Given the description of an element on the screen output the (x, y) to click on. 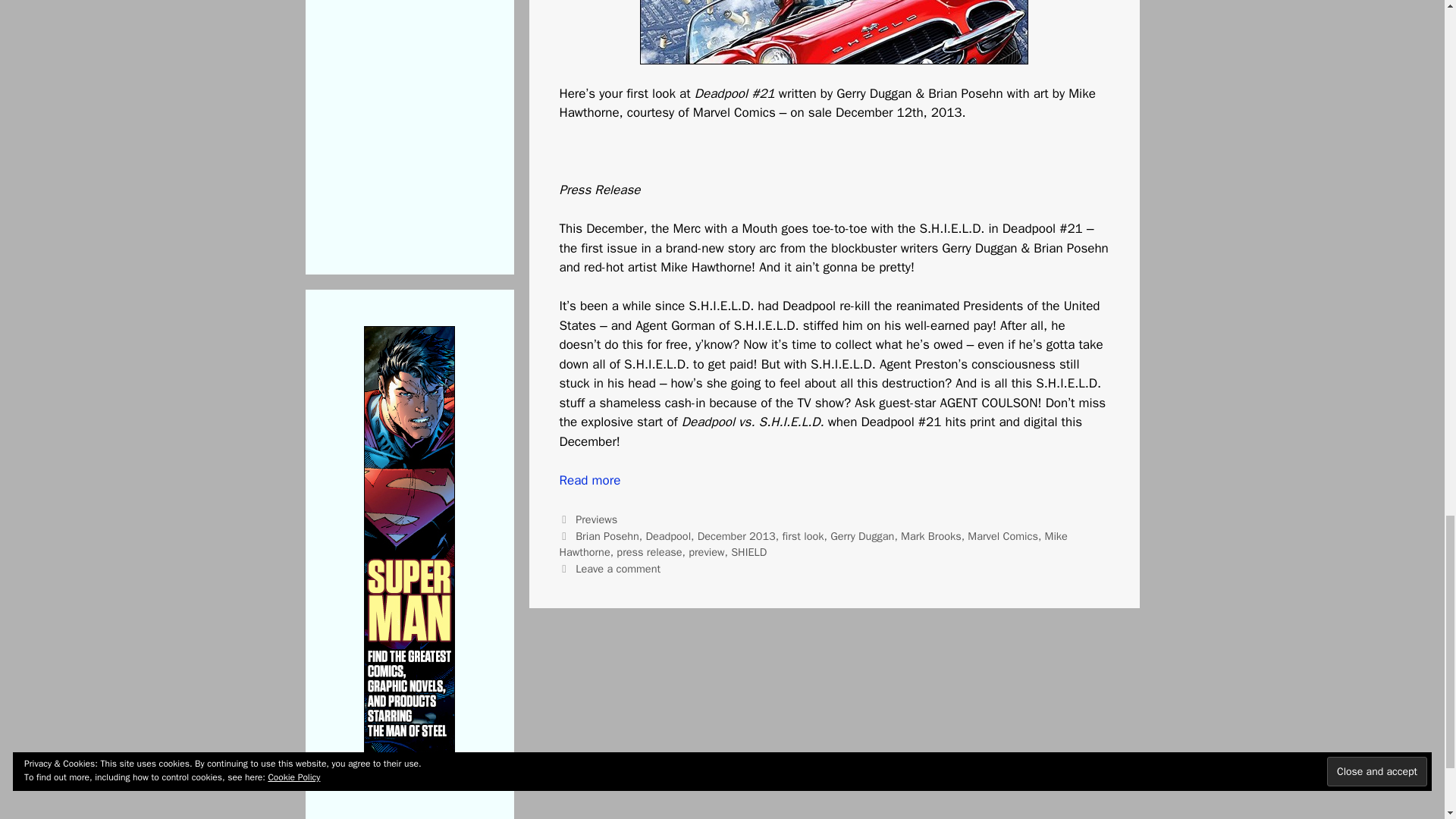
Advertisement (448, 116)
